Given the description of an element on the screen output the (x, y) to click on. 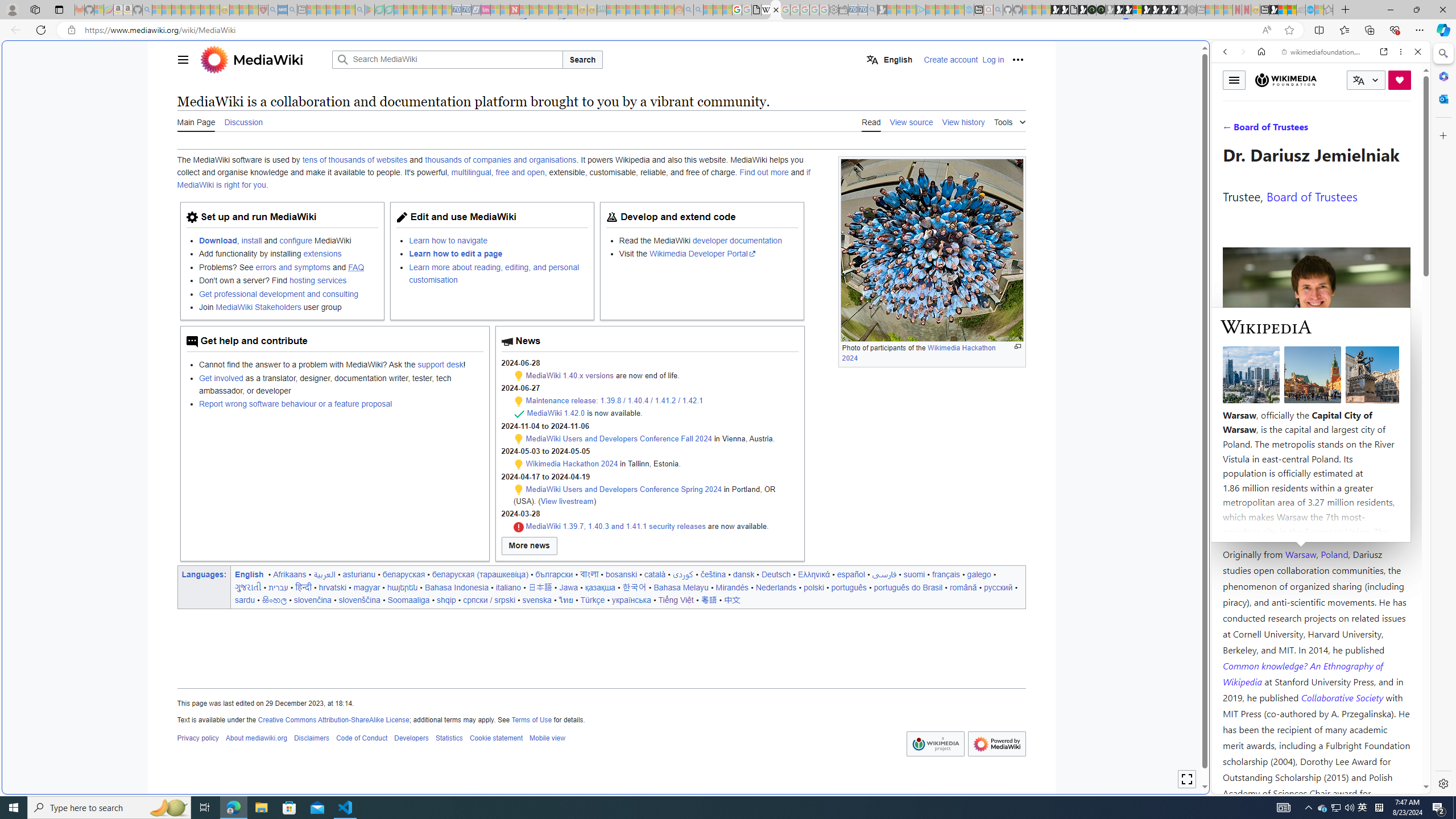
thousands of companies and organisations (500, 159)
MediaWiki 1.39.7, 1.40.3 and 1.41.1 security releases (615, 526)
Main Page (195, 121)
